Given the description of an element on the screen output the (x, y) to click on. 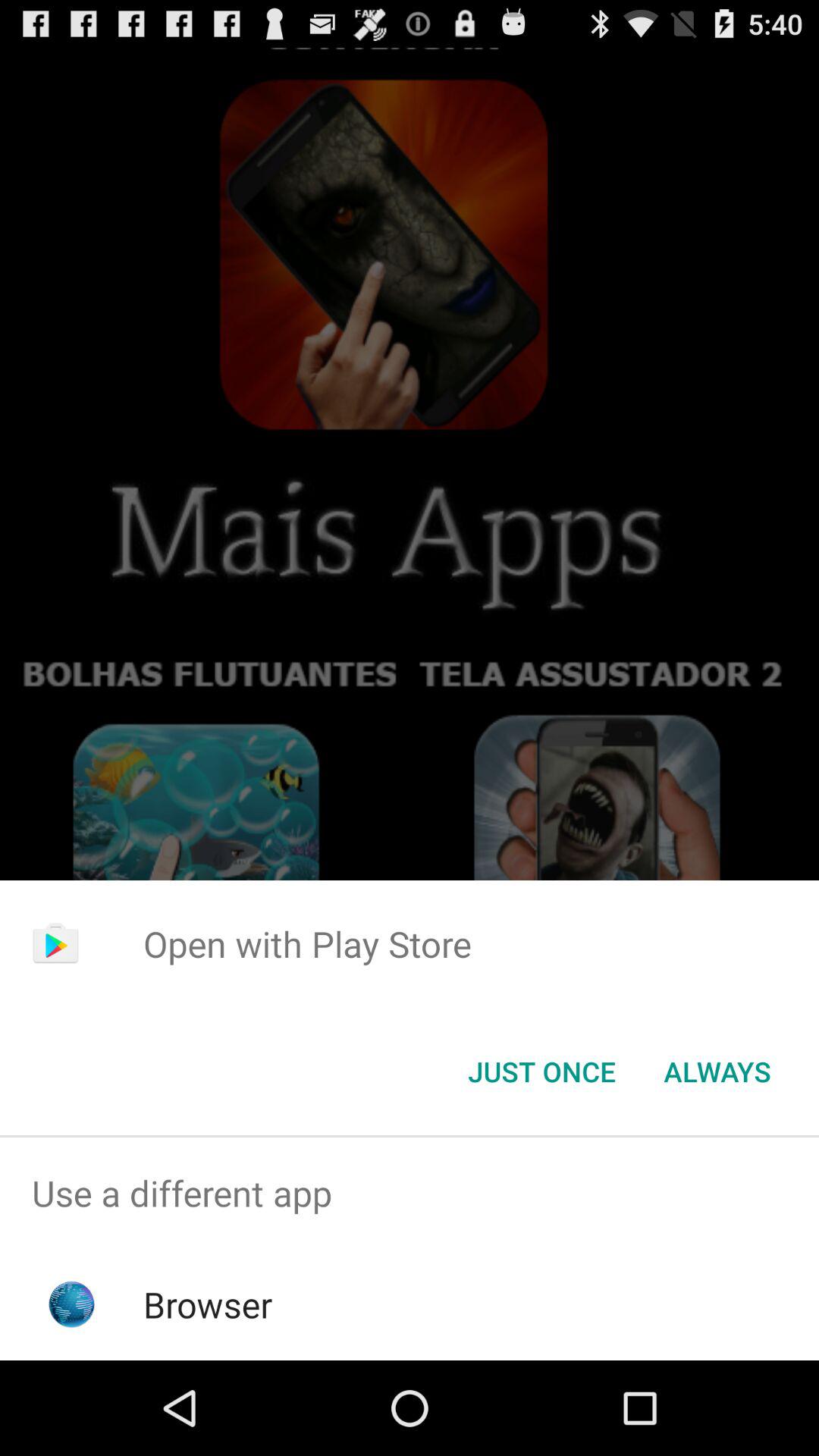
click icon below the open with play (541, 1071)
